Given the description of an element on the screen output the (x, y) to click on. 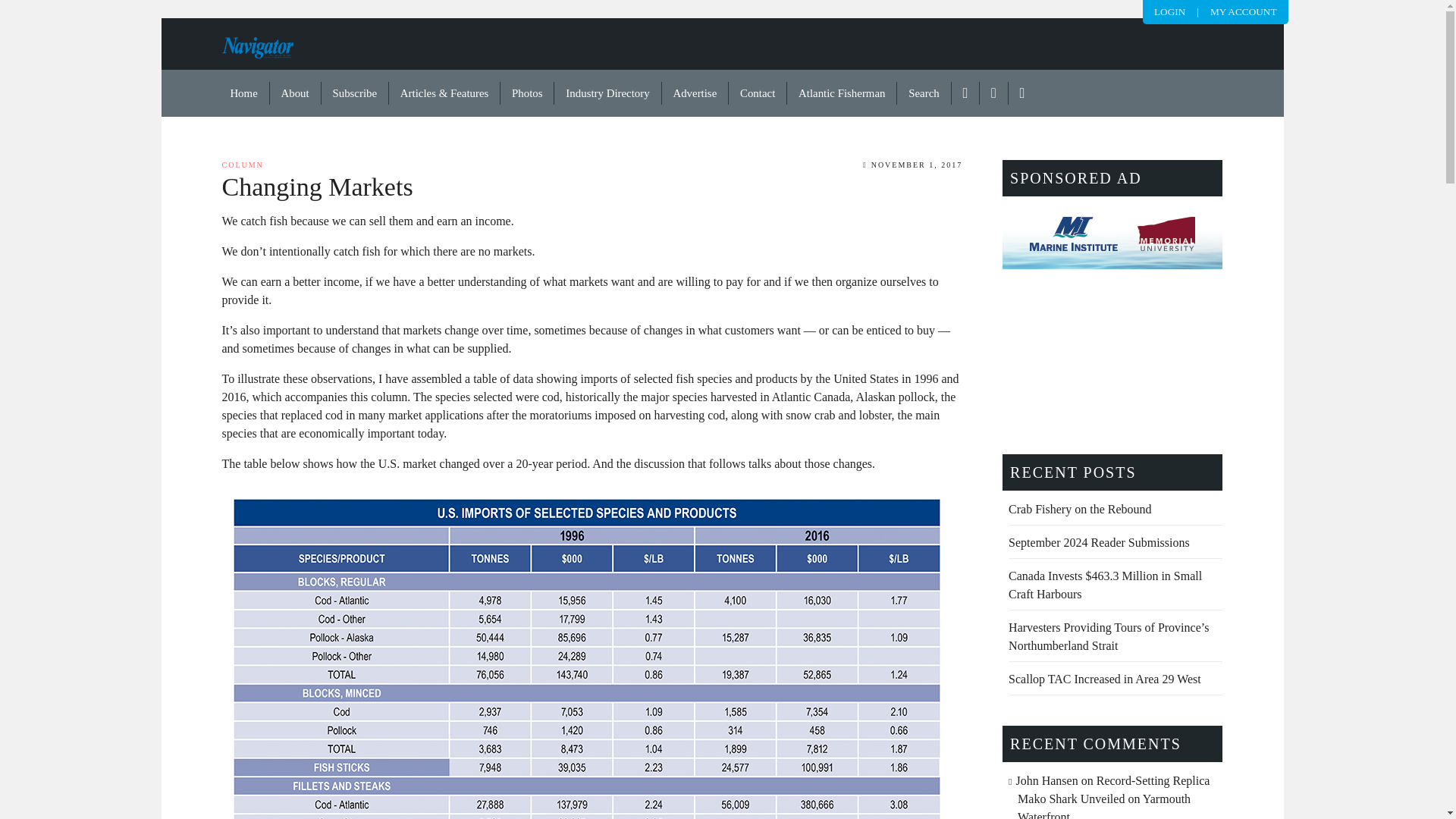
Facebook (965, 92)
Contact (758, 92)
Subscribe (354, 92)
About (295, 92)
LOGIN (1169, 11)
Home (243, 92)
MY ACCOUNT (1242, 11)
Search (923, 92)
Industry Directory (607, 92)
Advertise (695, 92)
